Given the description of an element on the screen output the (x, y) to click on. 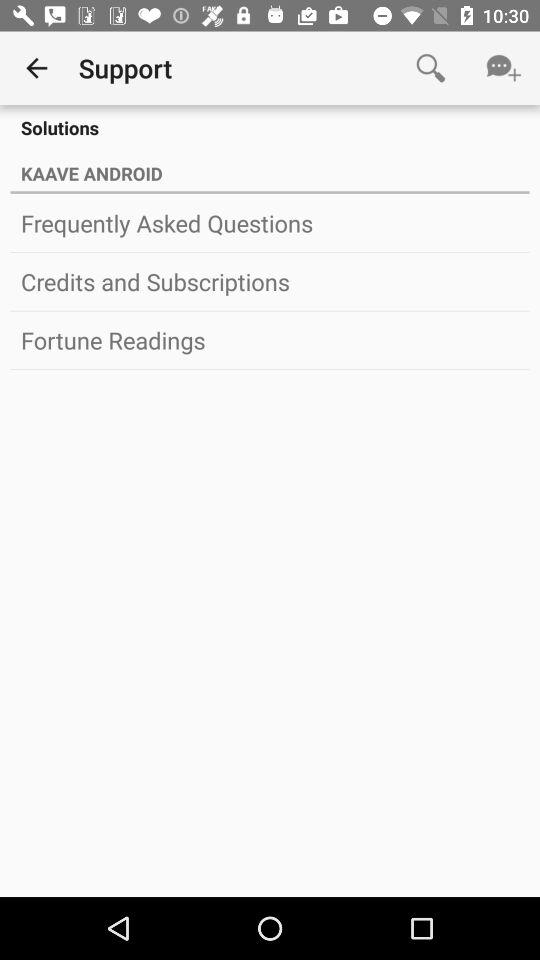
turn off the kaave android icon (269, 170)
